Given the description of an element on the screen output the (x, y) to click on. 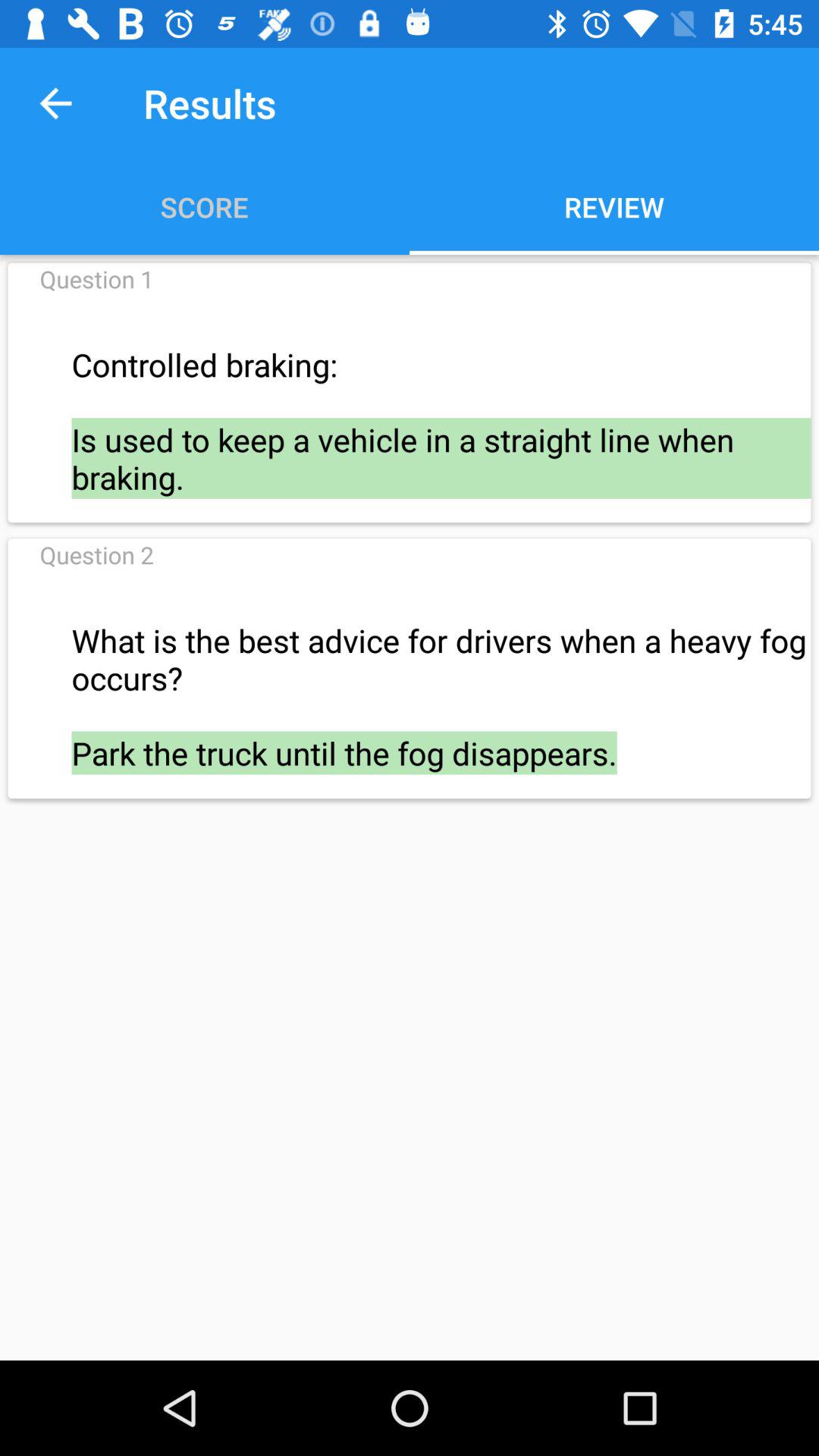
launch item above question 1 icon (55, 103)
